Given the description of an element on the screen output the (x, y) to click on. 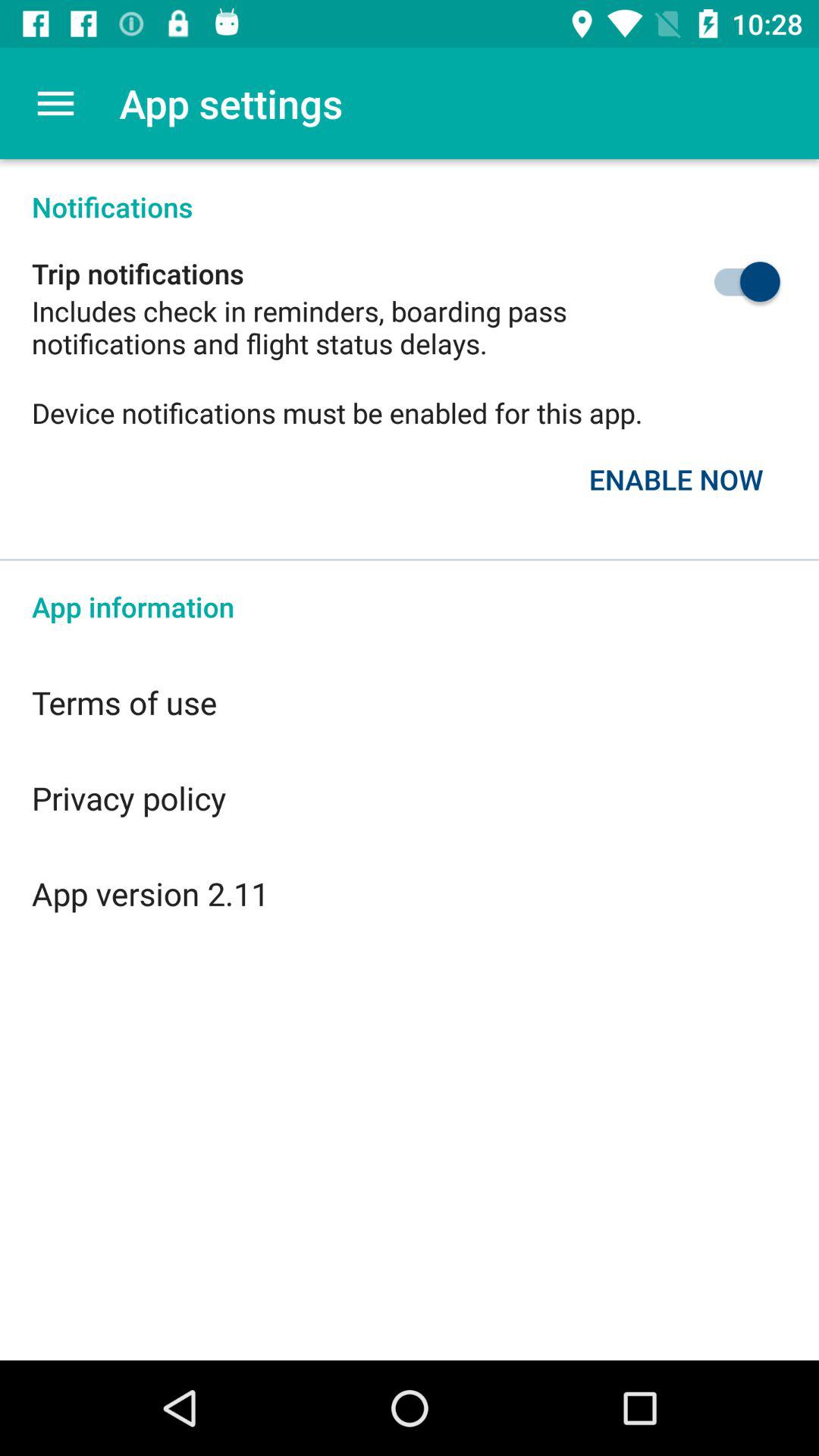
turn on notifications (711, 281)
